Given the description of an element on the screen output the (x, y) to click on. 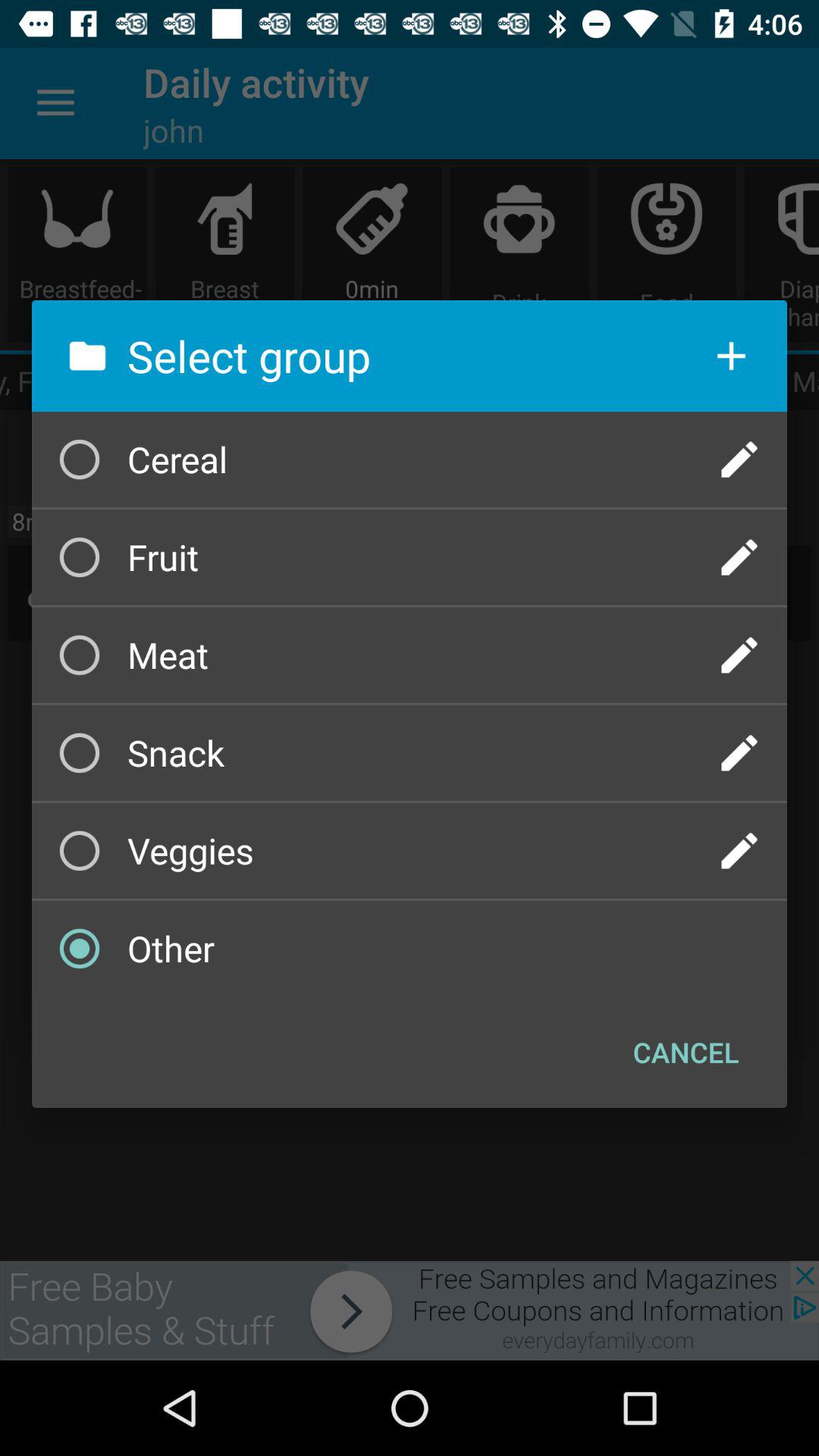
edit (739, 752)
